Given the description of an element on the screen output the (x, y) to click on. 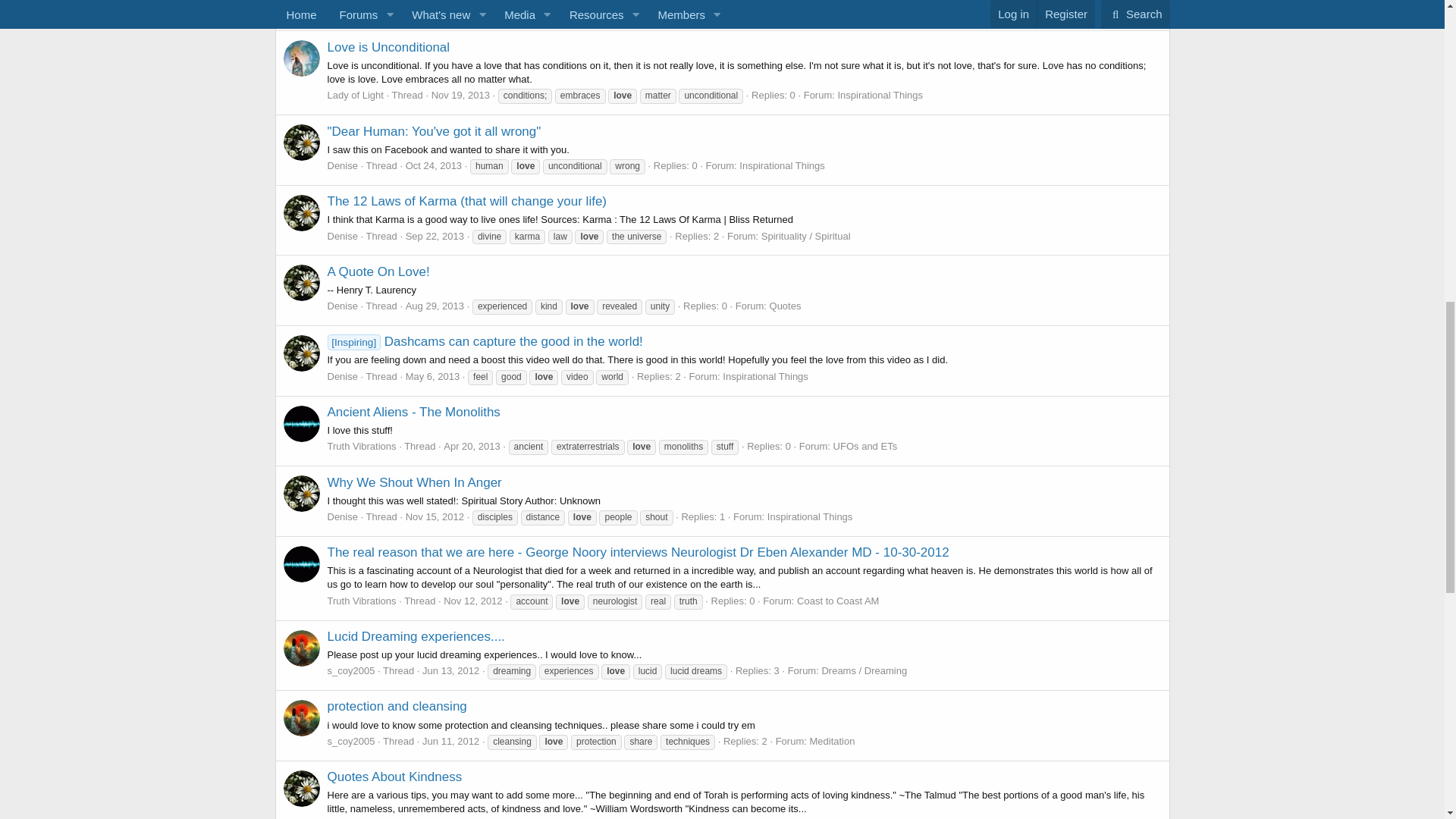
Sep 22, 2013 at 11:51 PM (435, 235)
Aug 29, 2013 at 6:36 PM (435, 306)
Nov 19, 2013 at 8:59 AM (459, 94)
May 6, 2013 at 11:39 AM (433, 376)
Oct 24, 2013 at 11:52 PM (433, 165)
Nov 19, 2013 at 9:12 AM (459, 11)
